Given the description of an element on the screen output the (x, y) to click on. 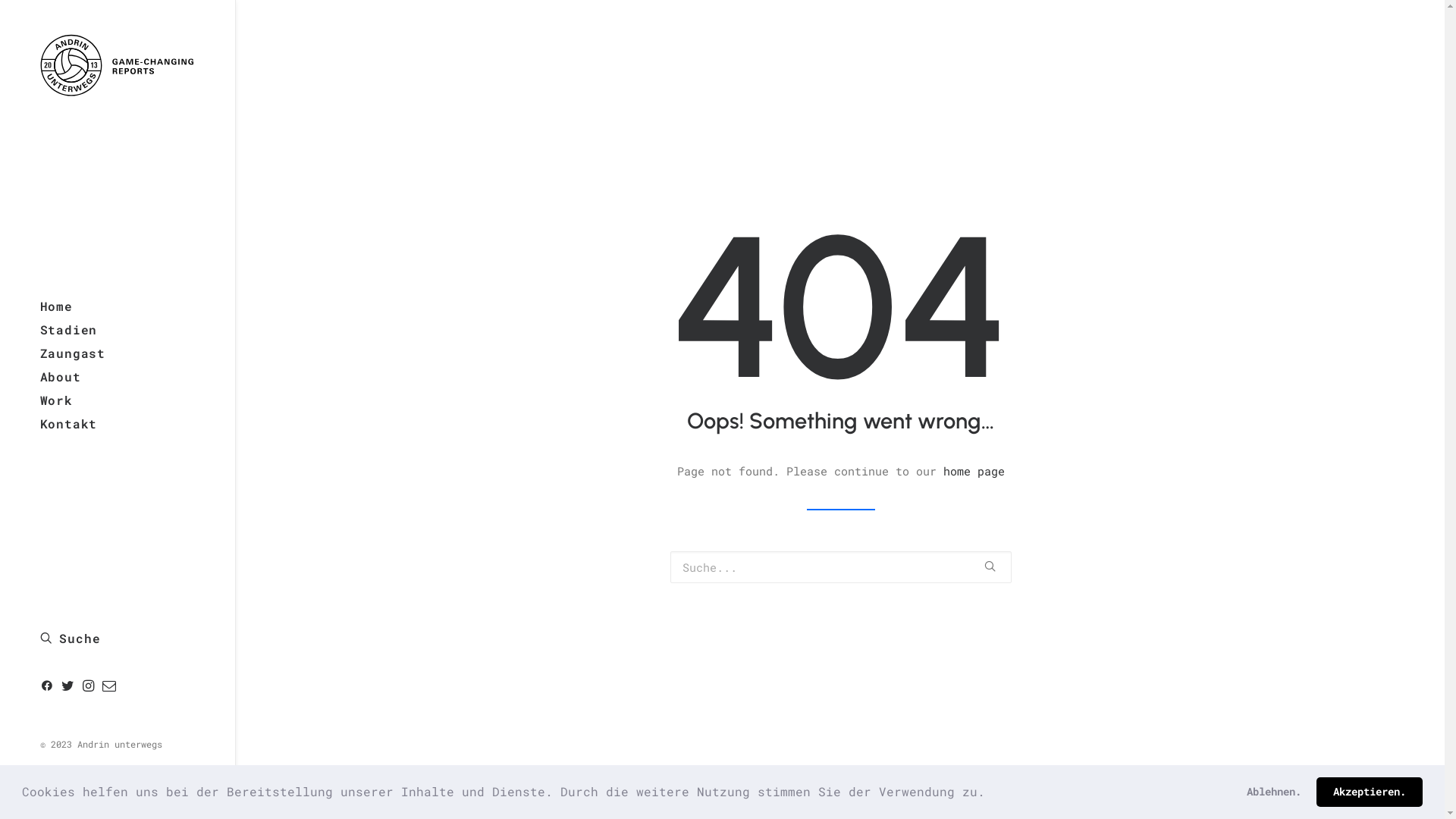
Akzeptieren. Element type: text (1369, 791)
Ablehnen. Element type: text (1273, 791)
Search for: Element type: hover (840, 567)
home page Element type: text (973, 470)
Impressum Element type: text (65, 785)
